Given the description of an element on the screen output the (x, y) to click on. 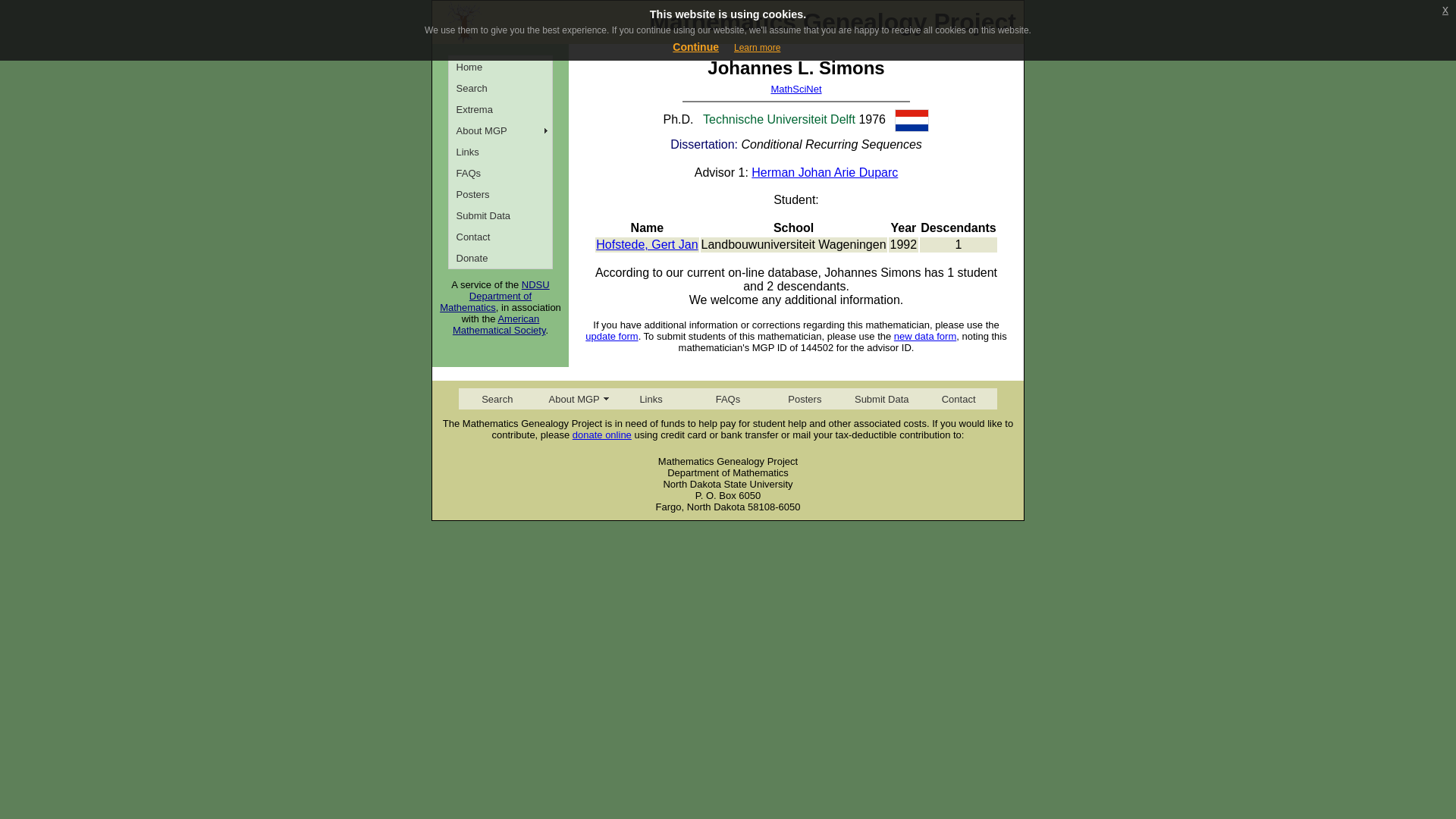
new data form (924, 336)
American Mathematical Society (499, 323)
Posters (805, 398)
FAQs (500, 172)
Contact (500, 236)
Department of Mathematics (485, 301)
FAQs (726, 398)
Contact (957, 398)
Links (650, 398)
Links (500, 151)
